Given the description of an element on the screen output the (x, y) to click on. 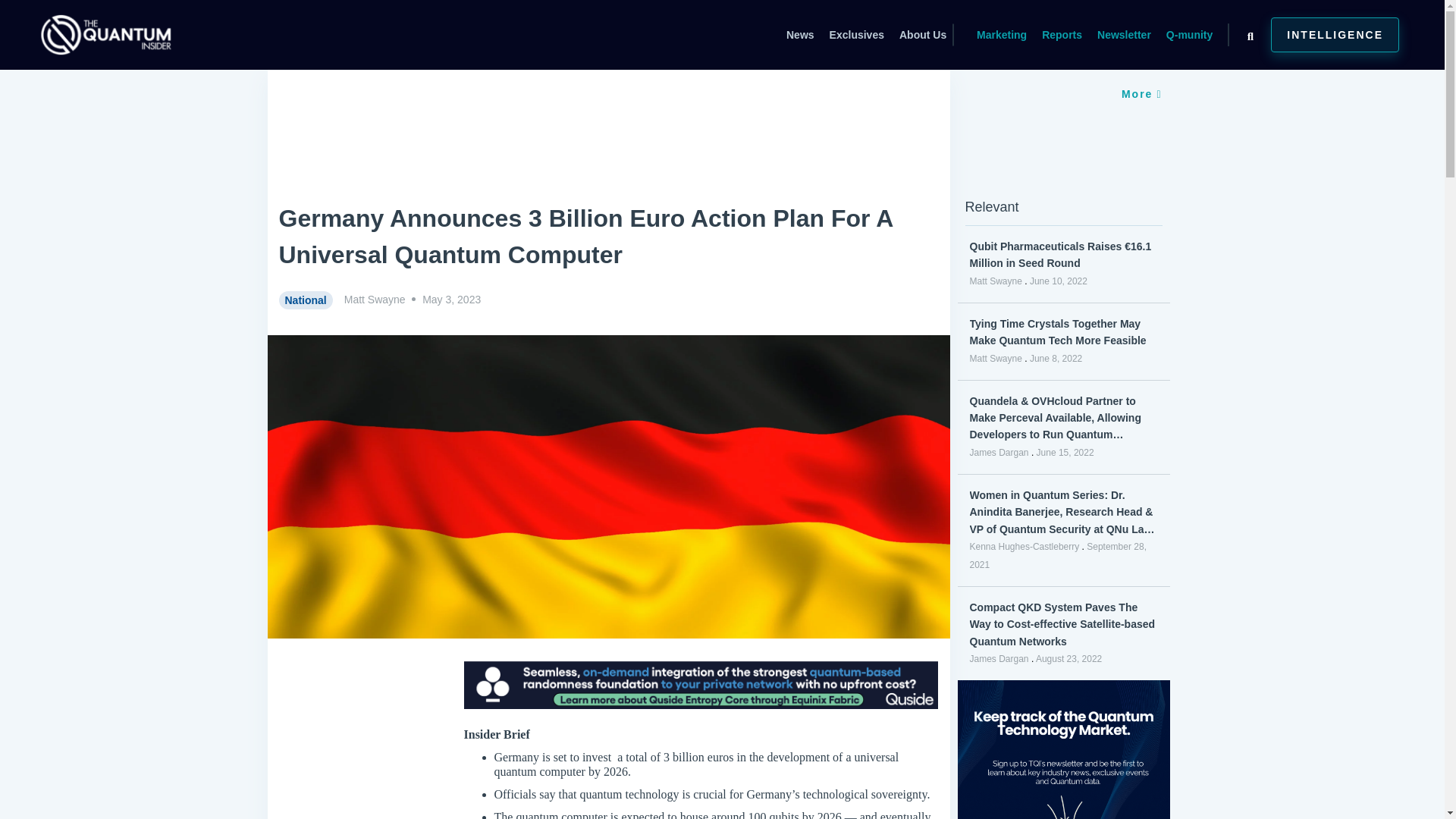
Exclusives (855, 34)
INTELLIGENCE (1335, 34)
Marketing (1001, 34)
About Us (922, 34)
Newsletter (1124, 34)
Q-munity (1189, 34)
Reports (1061, 34)
